Given the description of an element on the screen output the (x, y) to click on. 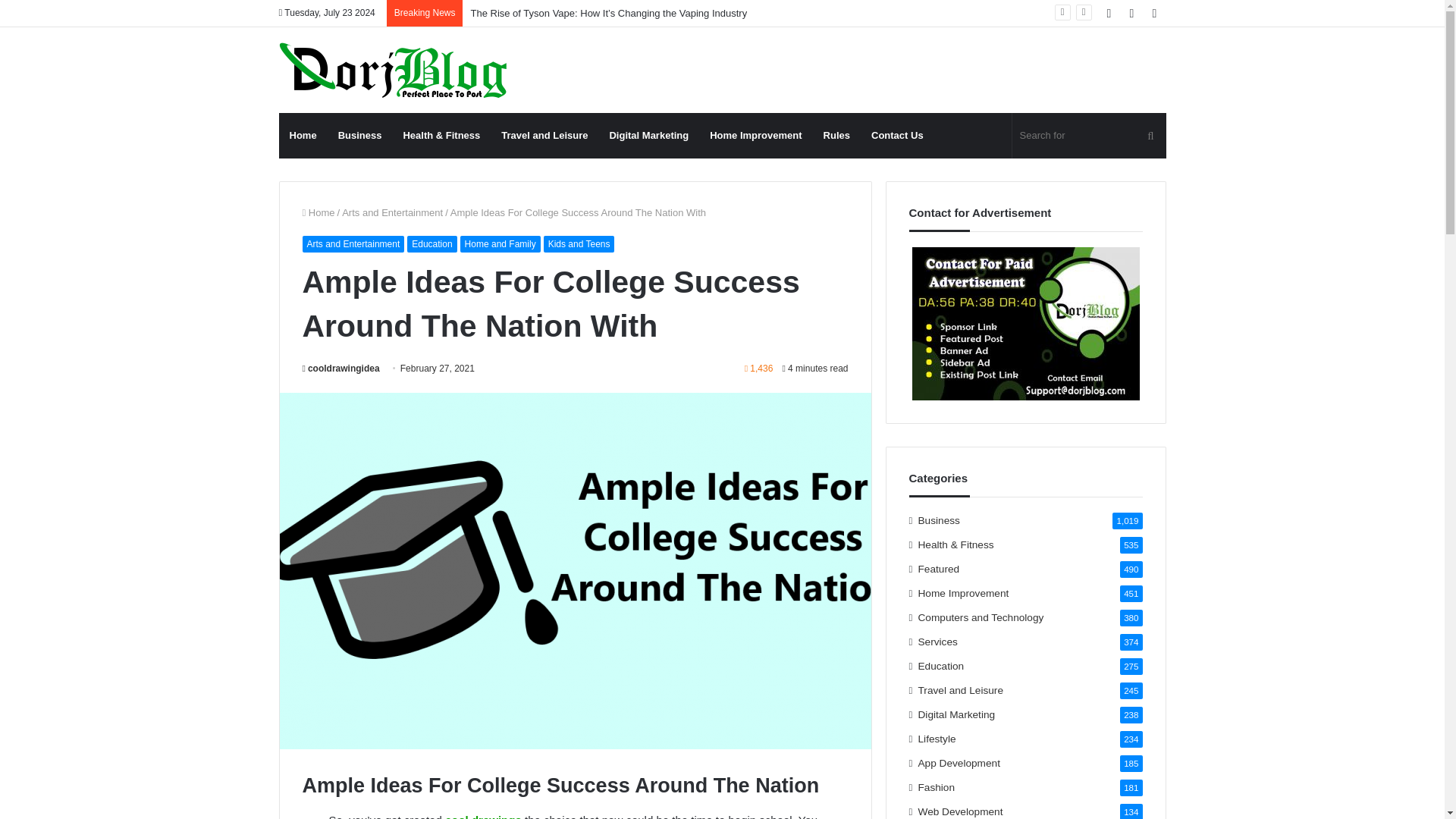
Log In (1109, 13)
Home Improvement (755, 135)
Sidebar (1154, 13)
Home and Family (500, 243)
Random Article (1131, 13)
Kids and Teens (578, 243)
Dorj Blog (392, 69)
Arts and Entertainment (392, 212)
Home (317, 212)
cool drawings (483, 816)
cooldrawingidea (339, 368)
Rules (836, 135)
cooldrawingidea (339, 368)
Search for (1150, 135)
Digital Marketing (648, 135)
